Given the description of an element on the screen output the (x, y) to click on. 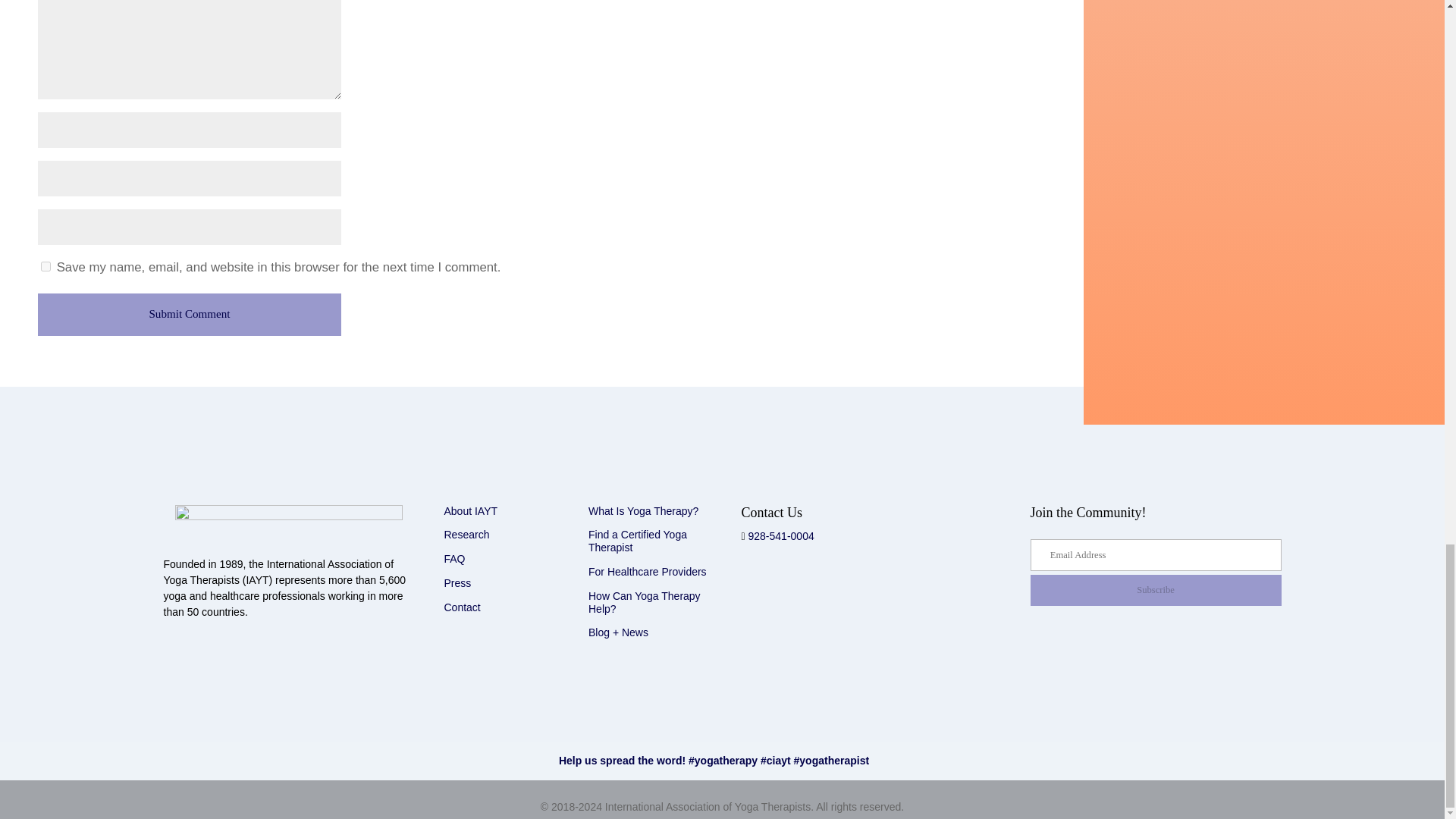
Submit Comment (188, 314)
yes (45, 266)
Subscribe (1155, 589)
